Given the description of an element on the screen output the (x, y) to click on. 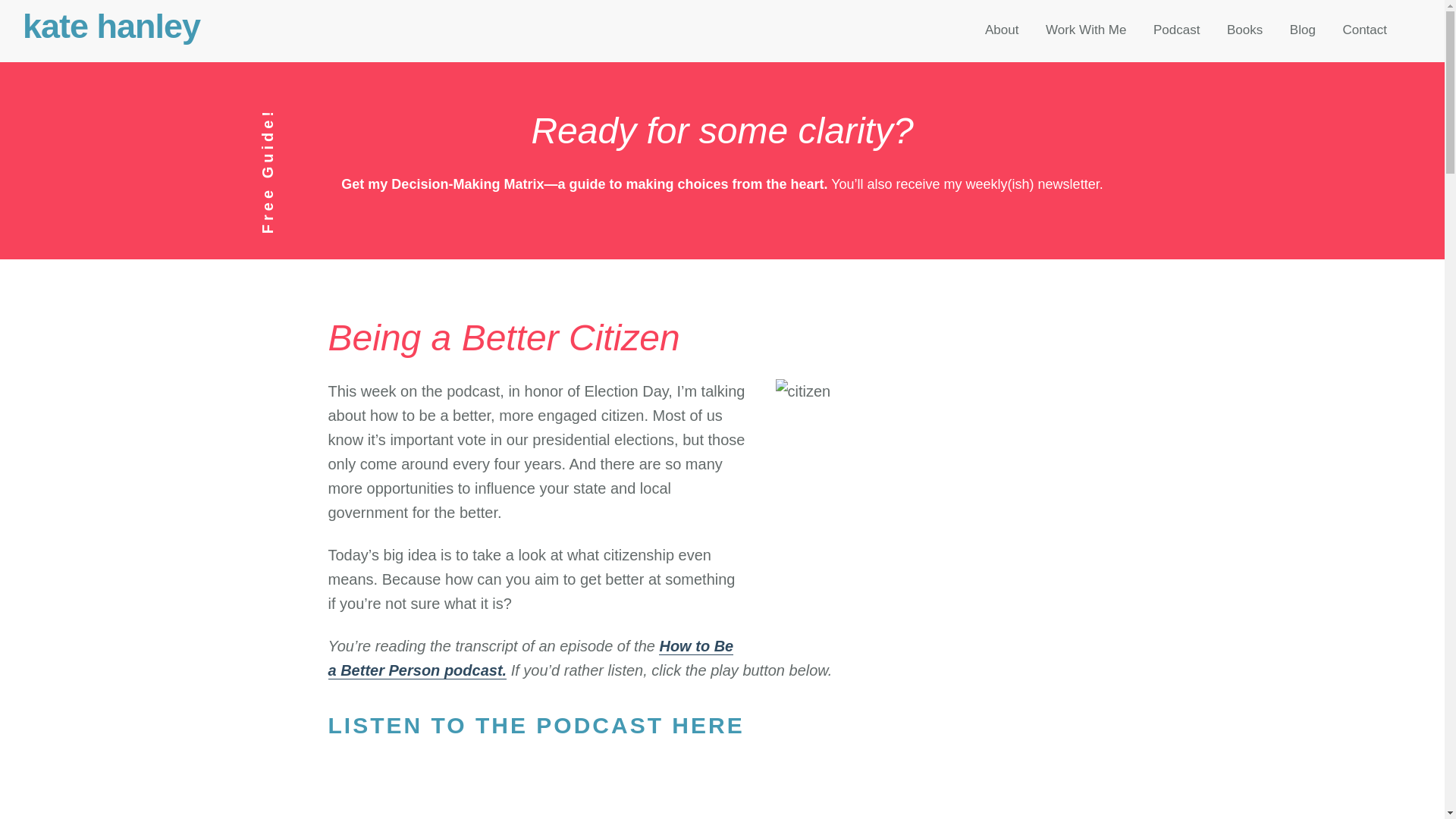
Podcast (1176, 29)
Search (49, 21)
Contact (1363, 29)
Work With Me (1085, 29)
Books (1244, 29)
About (1001, 29)
Blog (1302, 29)
How to Be a Better Person podcast. (530, 658)
